Given the description of an element on the screen output the (x, y) to click on. 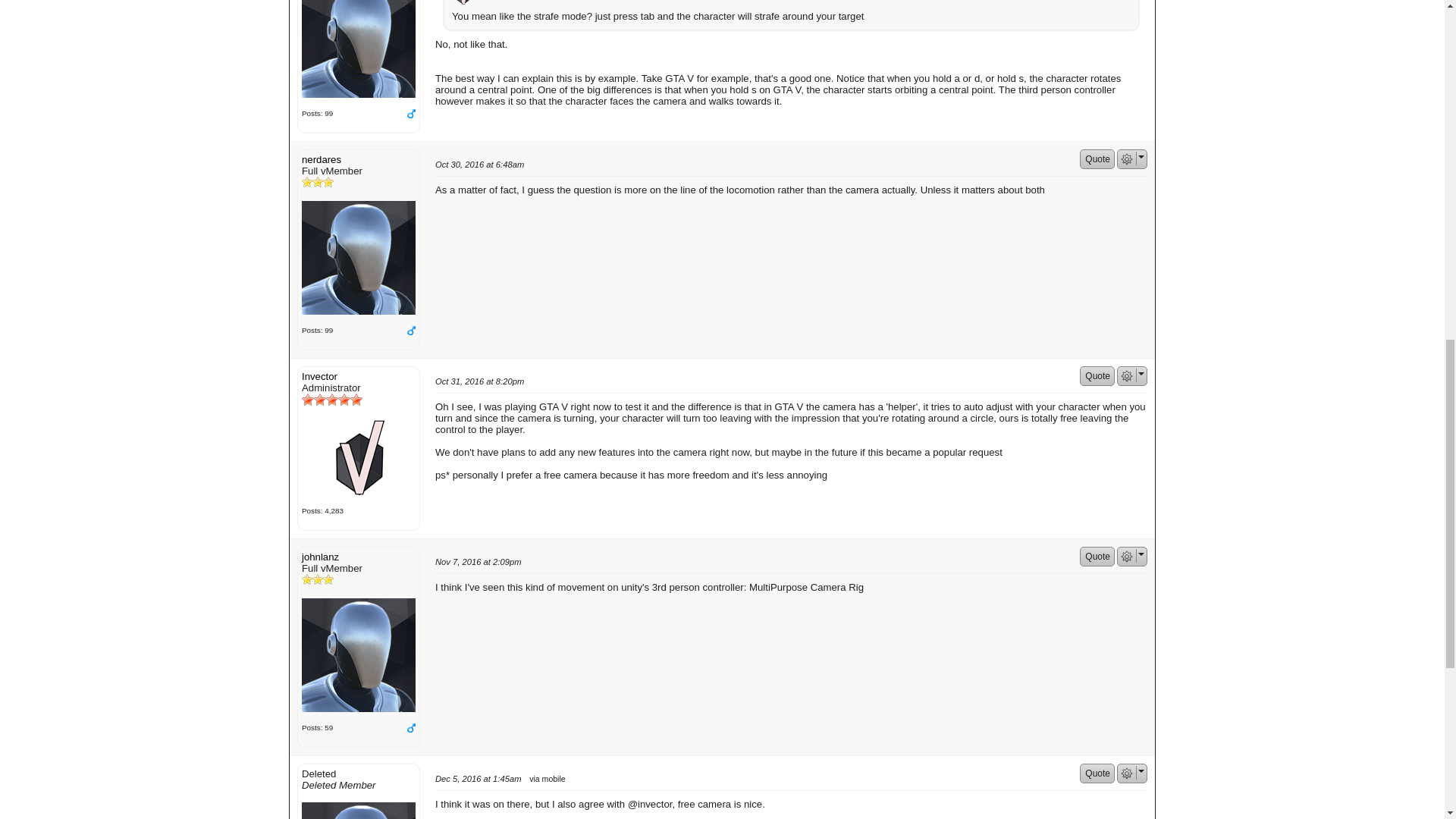
Male (410, 112)
nerdares (357, 48)
